Given the description of an element on the screen output the (x, y) to click on. 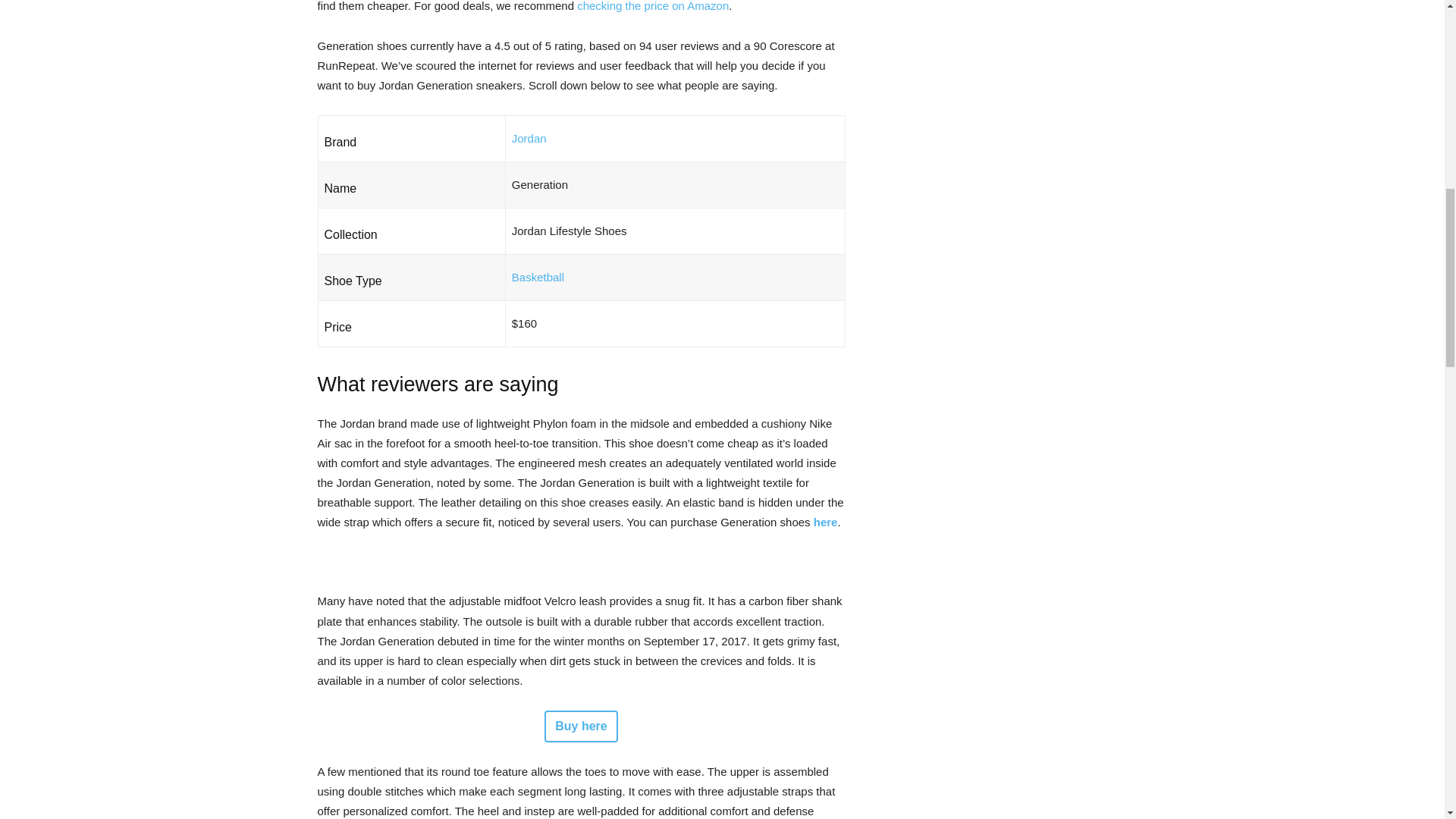
buy Generation (825, 521)
Best Jordan shoes (529, 137)
Best Basketball shoes (538, 277)
